Given the description of an element on the screen output the (x, y) to click on. 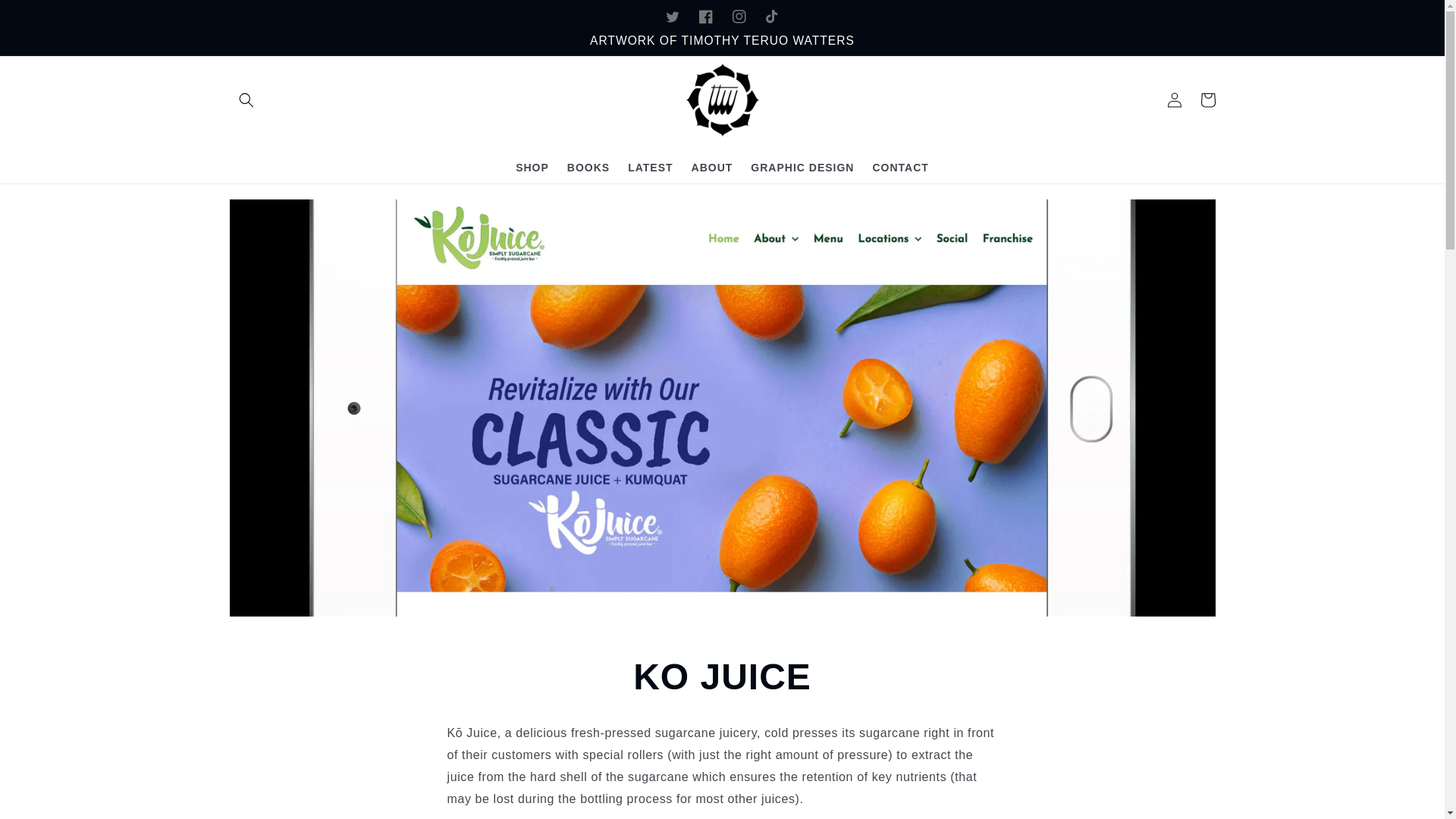
CONTACT (900, 167)
LATEST (649, 167)
ABOUT (712, 167)
BOOKS (587, 167)
SHOP (531, 167)
GRAPHIC DESIGN (802, 167)
Instagram (738, 16)
Cart (1207, 100)
TikTok (772, 16)
Facebook (705, 16)
